Given the description of an element on the screen output the (x, y) to click on. 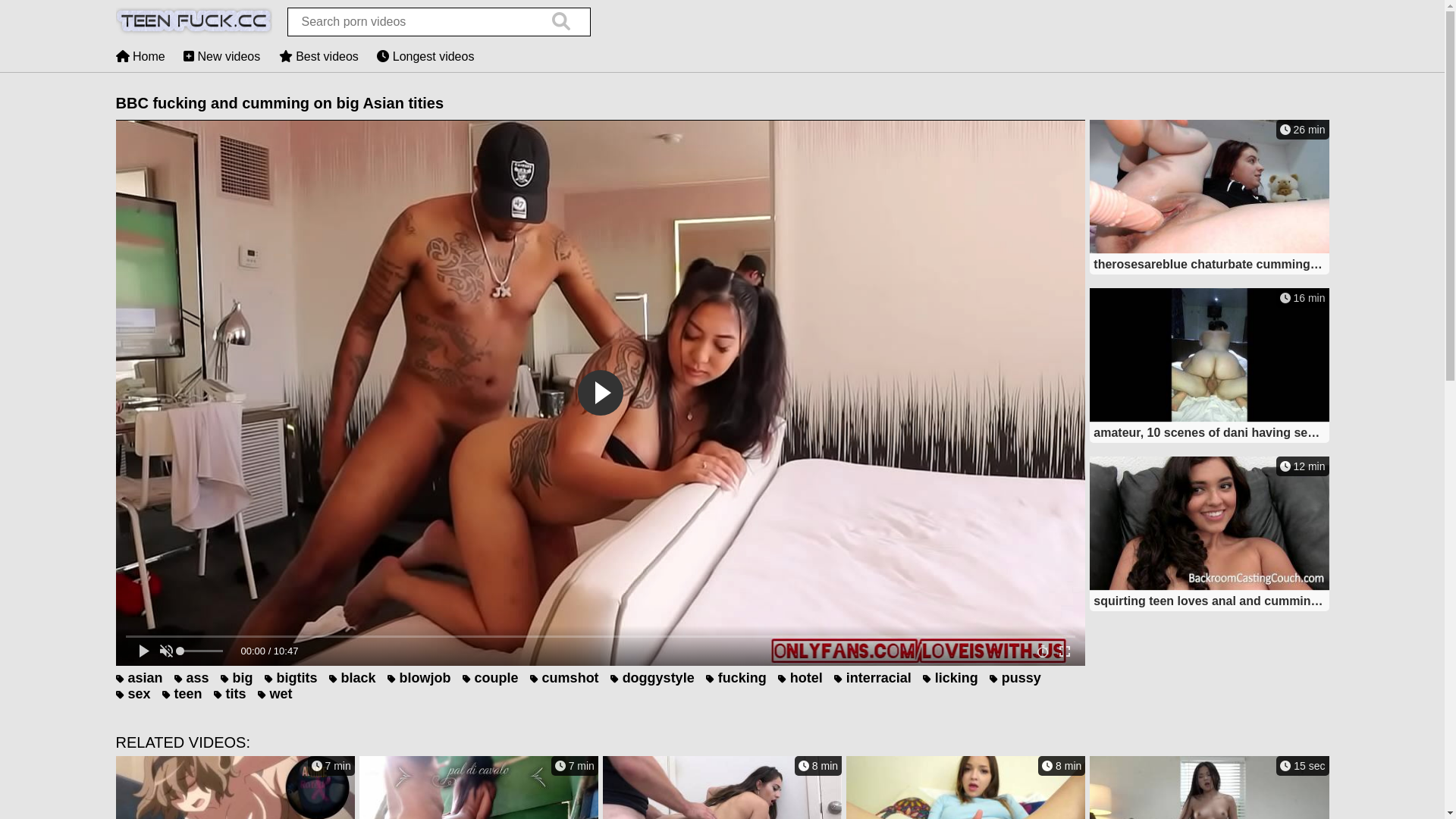
pussy Element type: text (1015, 678)
doggystyle Element type: text (652, 678)
asian Element type: text (138, 678)
fucking Element type: text (736, 678)
black Element type: text (352, 678)
cumshot Element type: text (564, 678)
big Element type: text (236, 678)
16 min
amateur, 10 scenes of dani having sex and cumming Element type: text (1208, 366)
licking Element type: text (950, 678)
teen Element type: text (182, 694)
couple Element type: text (490, 678)
ass Element type: text (191, 678)
bigtits Element type: text (290, 678)
Longest videos Element type: text (424, 56)
blowjob Element type: text (419, 678)
New videos Element type: text (221, 56)
wet Element type: text (274, 694)
sex Element type: text (132, 694)
tits Element type: text (229, 694)
12 min
squirting teen loves anal and cumming with cum Element type: text (1208, 535)
interracial Element type: text (872, 678)
26 min
therosesareblue chaturbate cumming all over Element type: text (1208, 198)
hotel Element type: text (800, 678)
Best videos Element type: text (318, 56)
Home Element type: text (139, 56)
